Given the description of an element on the screen output the (x, y) to click on. 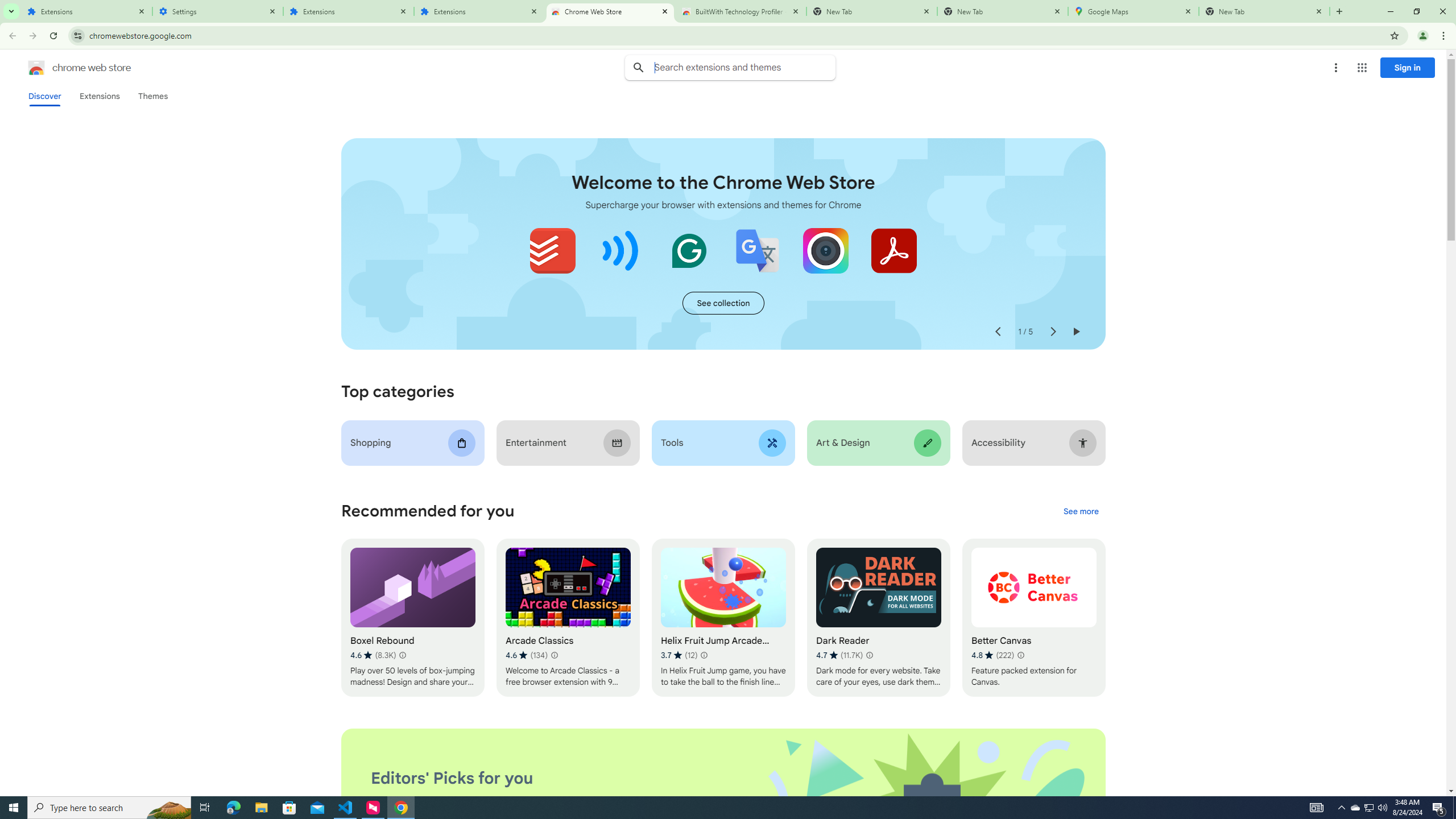
Chrome Web Store logo (36, 67)
Extensions (479, 11)
Volume Master (620, 250)
New Tab (1002, 11)
Average rating 4.7 out of 5 stars. 11.7K ratings. (839, 655)
Resume auto-play (1075, 331)
Average rating 3.7 out of 5 stars. 12 ratings. (679, 655)
Chrome Web Store (610, 11)
Average rating 4.6 out of 5 stars. 134 ratings. (526, 655)
